Given the description of an element on the screen output the (x, y) to click on. 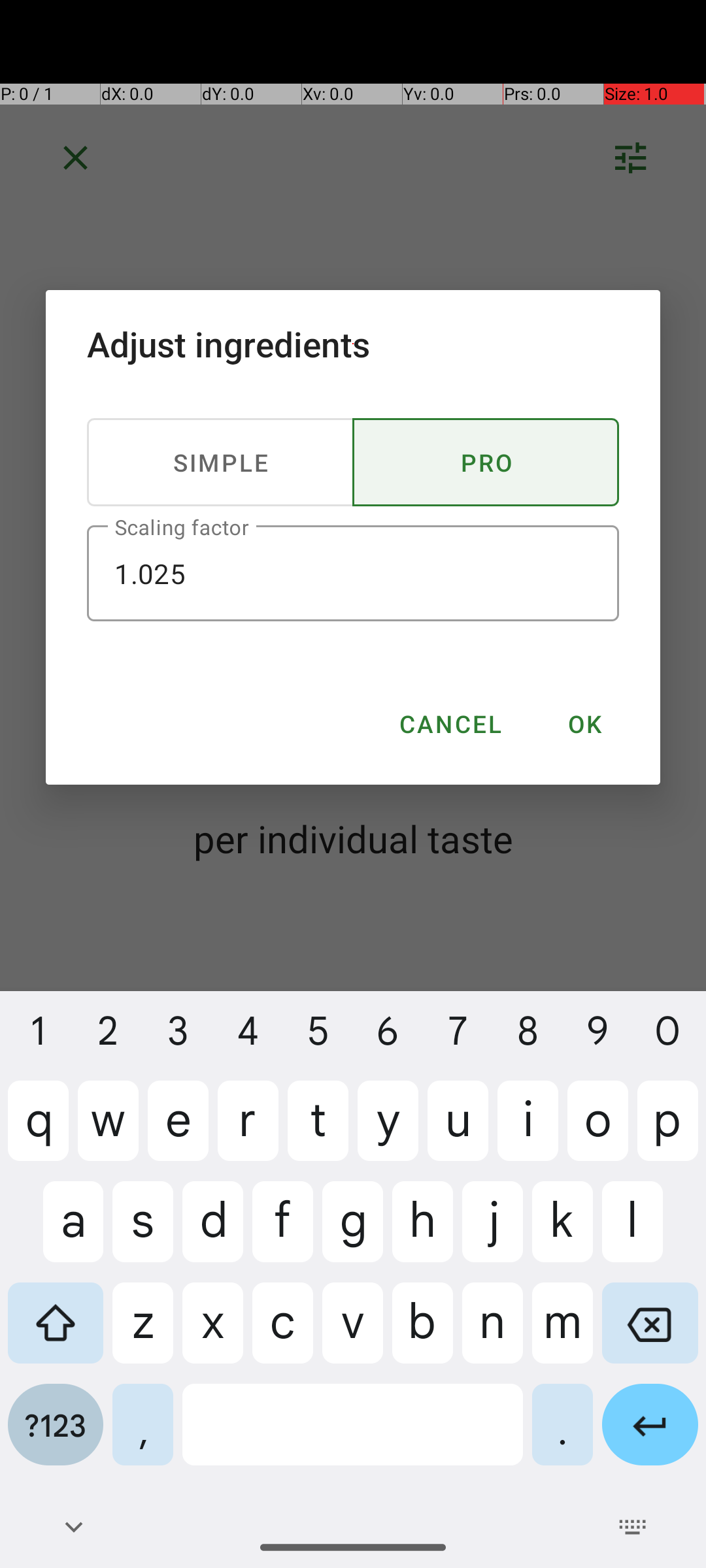
1.025 Element type: android.widget.EditText (352, 573)
